Given the description of an element on the screen output the (x, y) to click on. 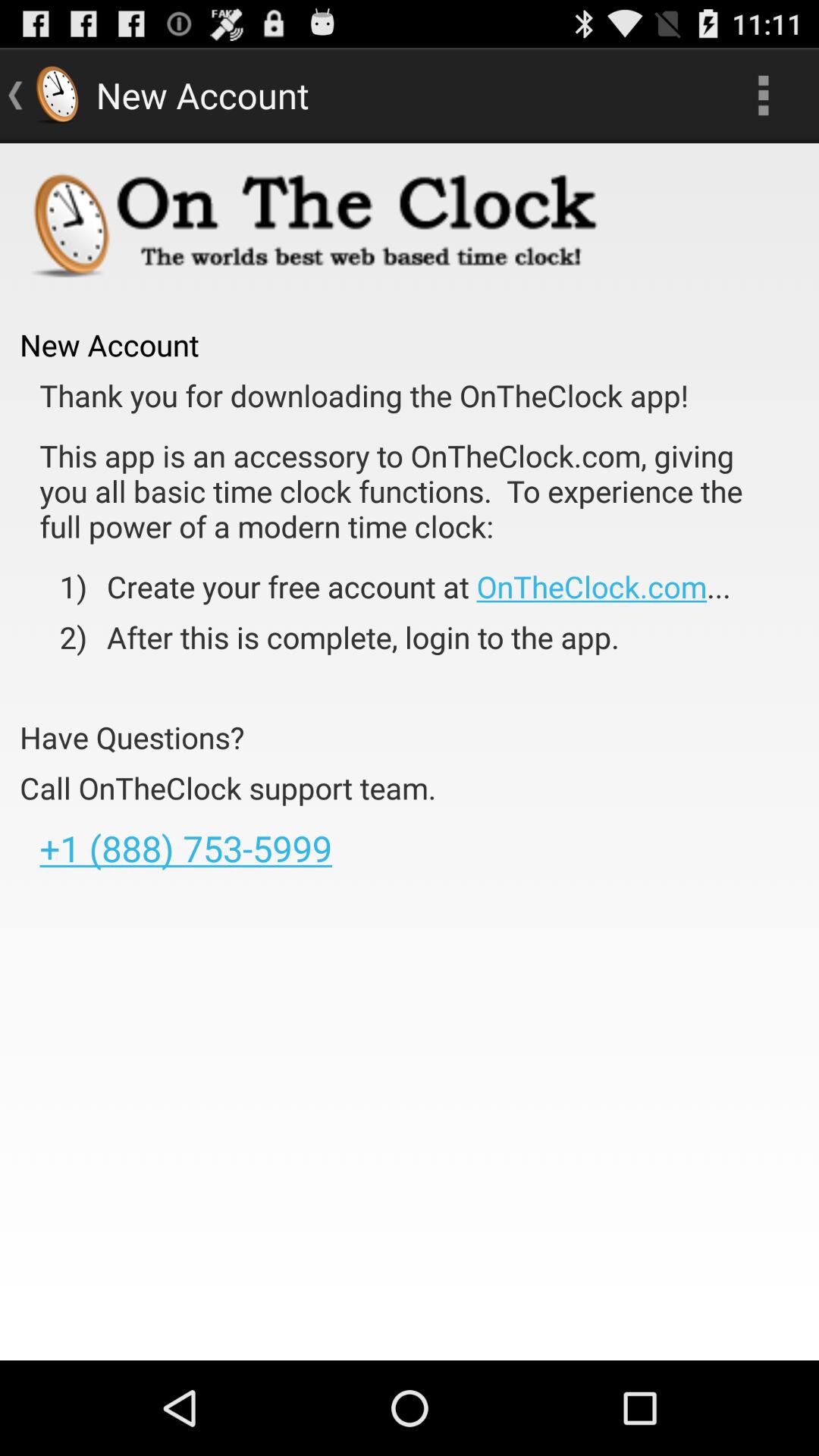
click the item below call ontheclock support app (185, 848)
